Given the description of an element on the screen output the (x, y) to click on. 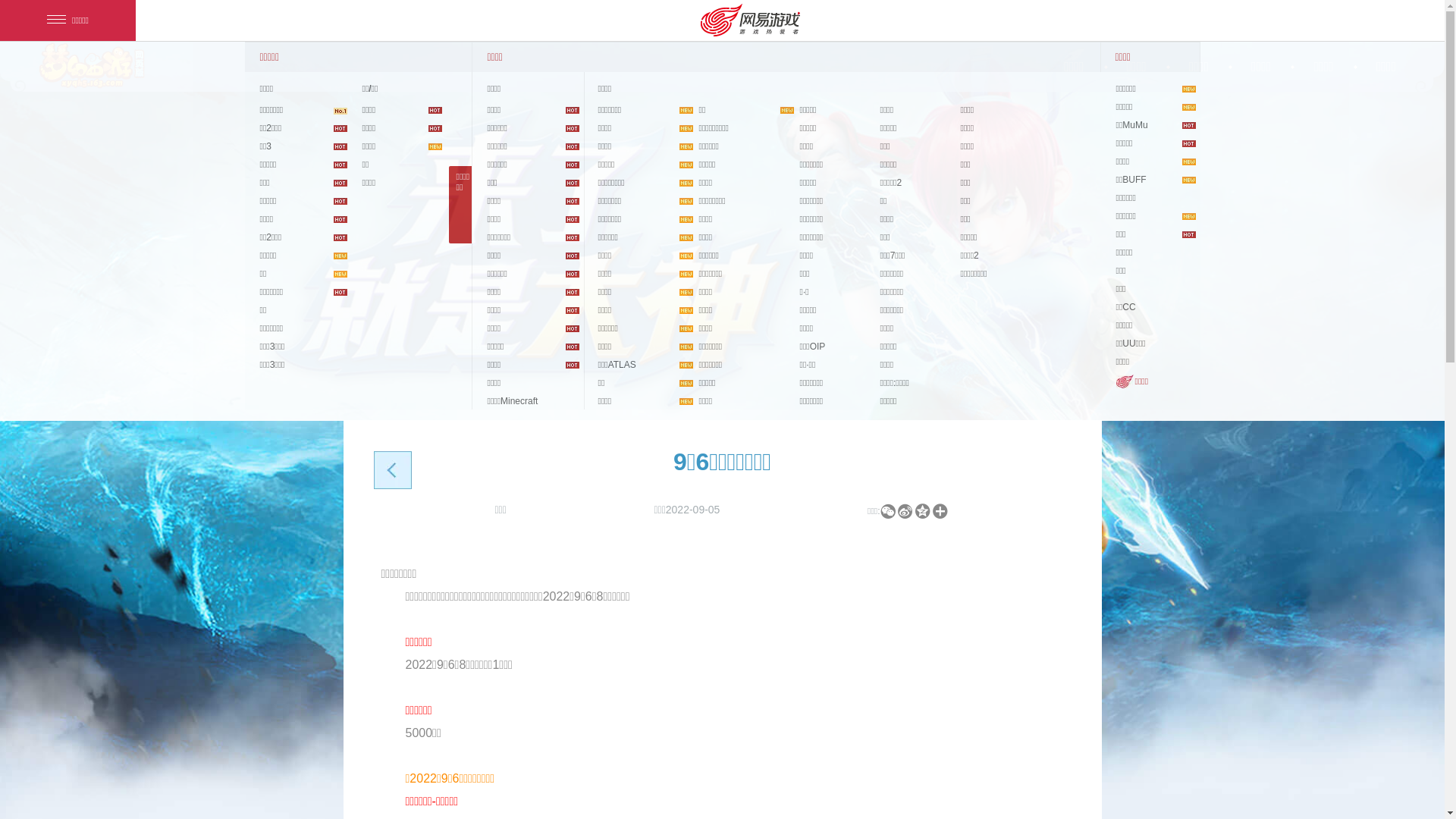
logo Element type: hover (91, 65)
back Element type: hover (394, 472)
